Given the description of an element on the screen output the (x, y) to click on. 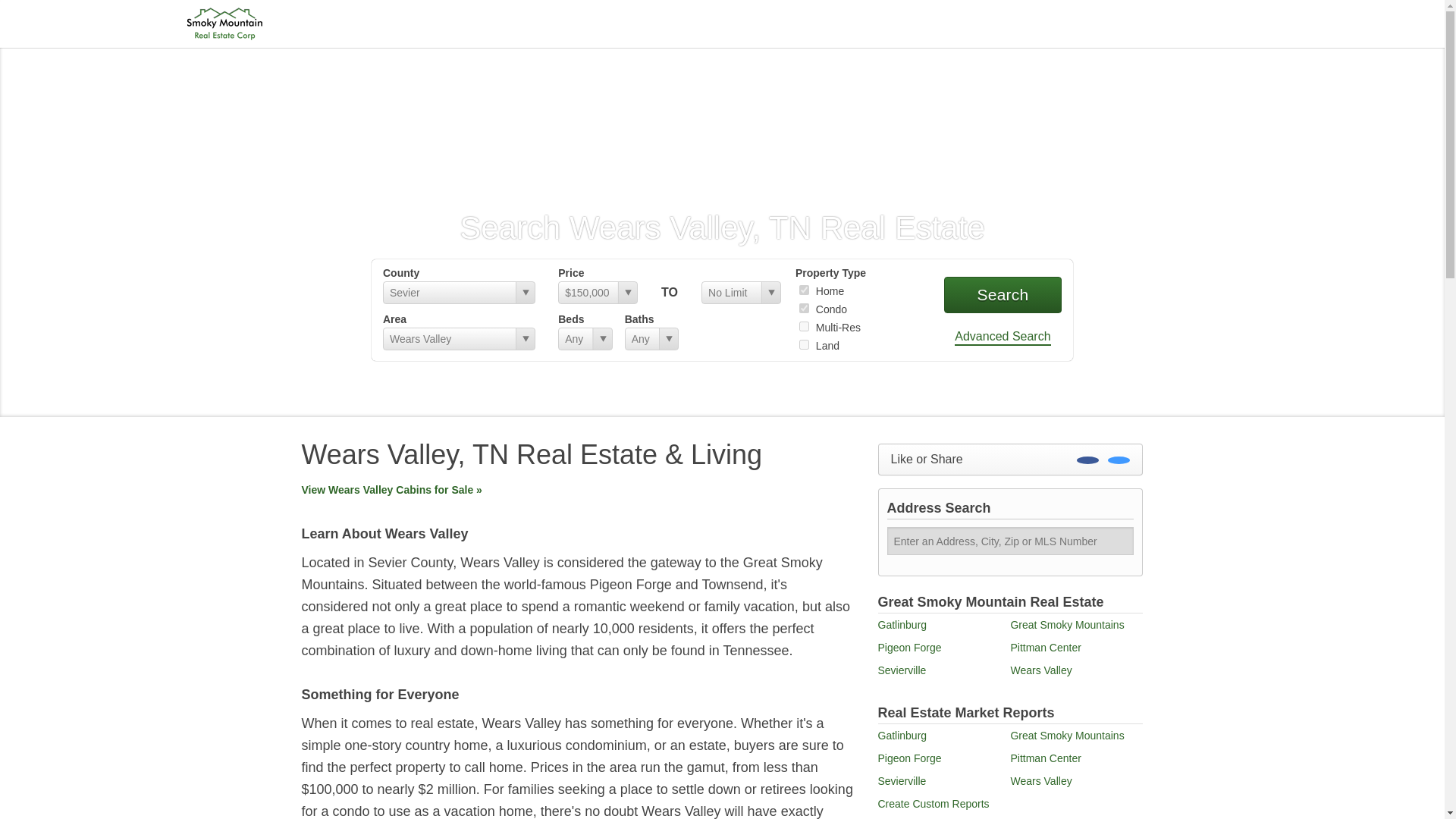
Search (1002, 294)
View Wears Valley Cabins for Sale (391, 490)
Pigeon Forge (909, 647)
Gatlinburgcabininvestments.com (224, 23)
Gatlinburg (902, 624)
Like or Share (1009, 459)
lnd (804, 344)
mul (804, 326)
Great Smoky Mountains (1067, 624)
Pittman Center (1045, 647)
